Given the description of an element on the screen output the (x, y) to click on. 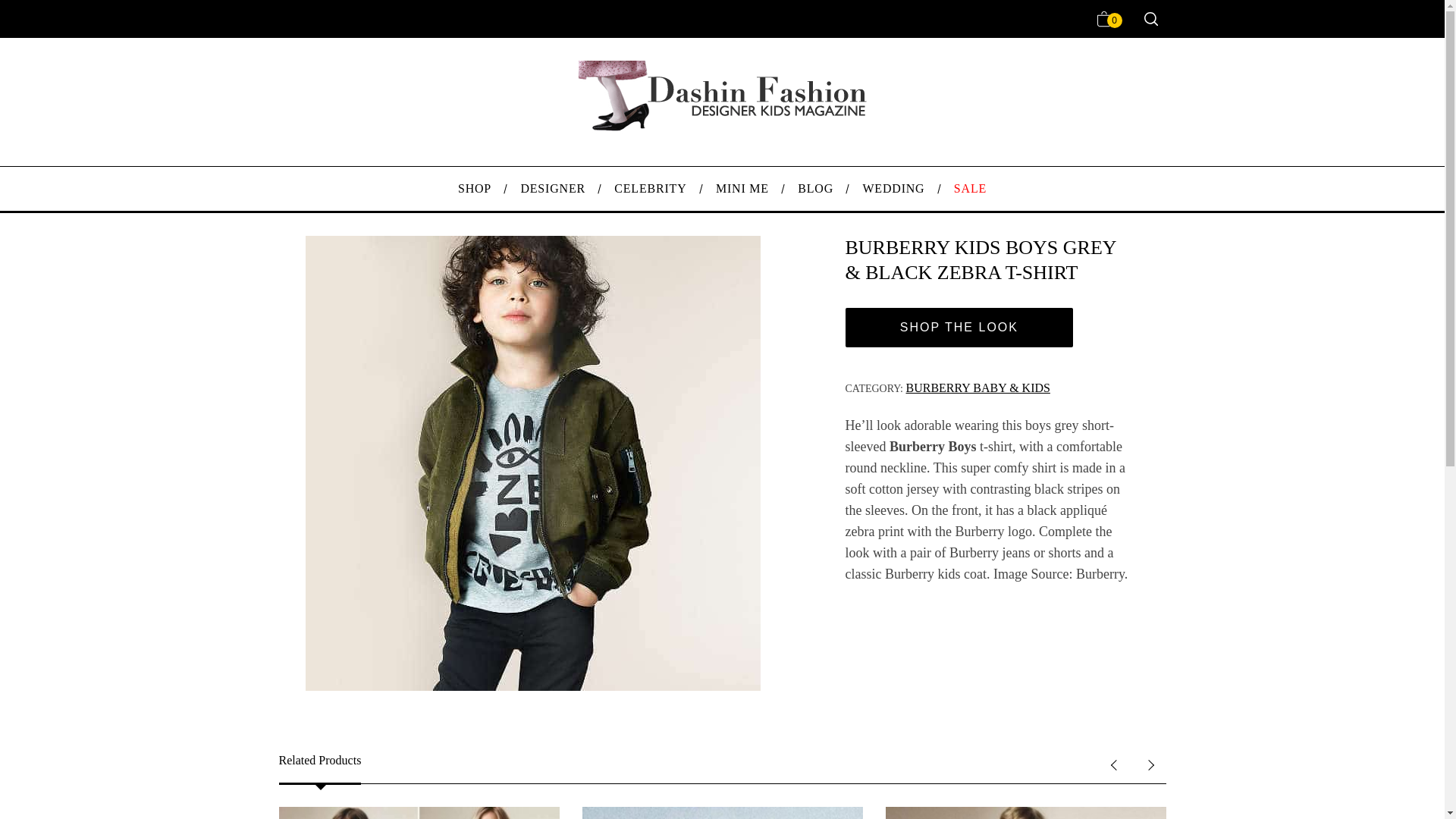
WEDDING (893, 188)
CELEBRITY (650, 188)
SALE (970, 188)
BLOG (815, 188)
DESIGNER (552, 188)
MINI ME (742, 188)
